Given the description of an element on the screen output the (x, y) to click on. 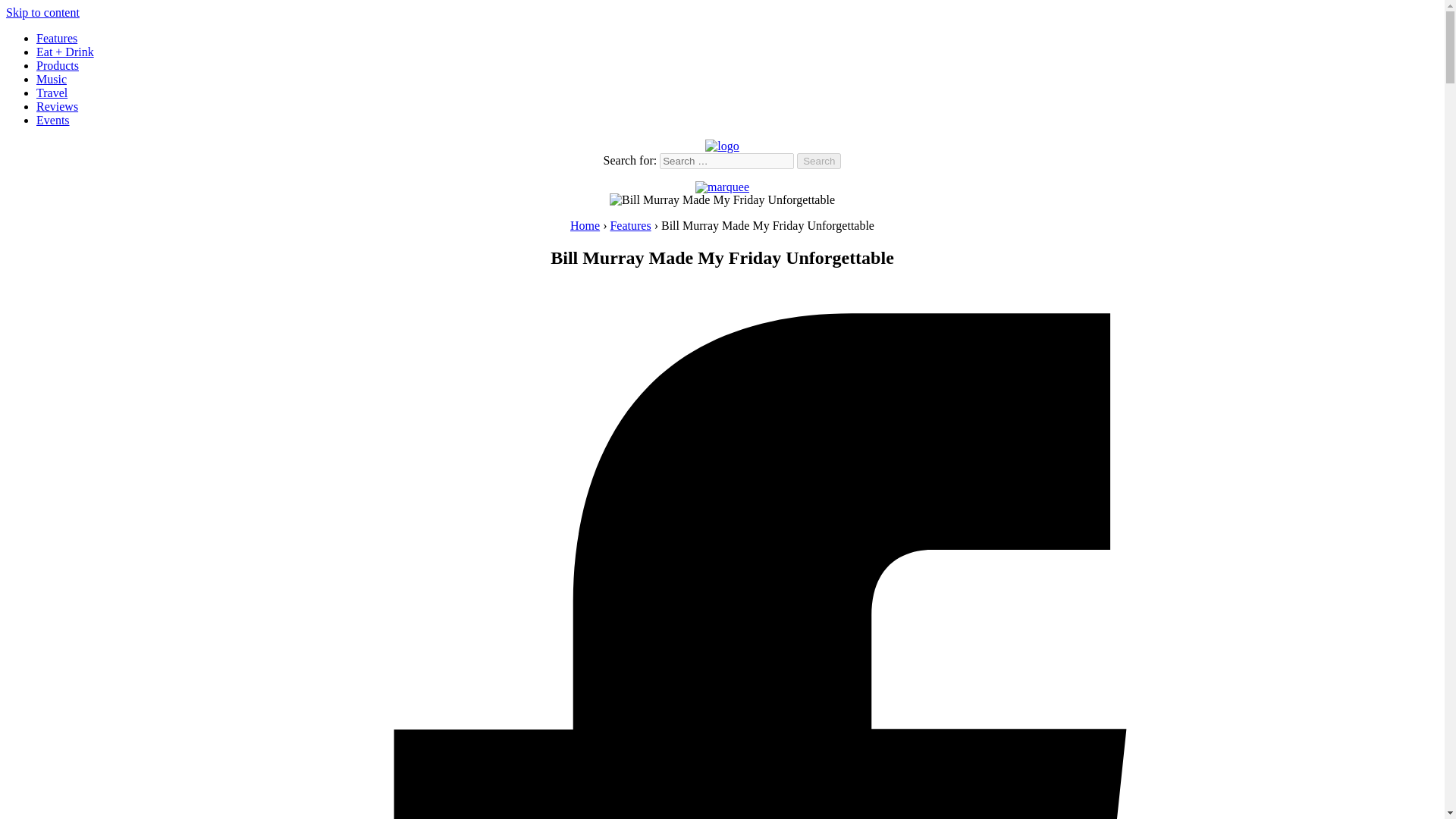
Home (584, 225)
Features (56, 38)
Travel (51, 92)
Sydney Unleashed (51, 211)
Search (818, 160)
Events (52, 119)
Skip to content (42, 11)
Reviews (57, 106)
Search (818, 160)
Products (57, 65)
Music (51, 78)
Features (630, 225)
Search (818, 160)
